Given the description of an element on the screen output the (x, y) to click on. 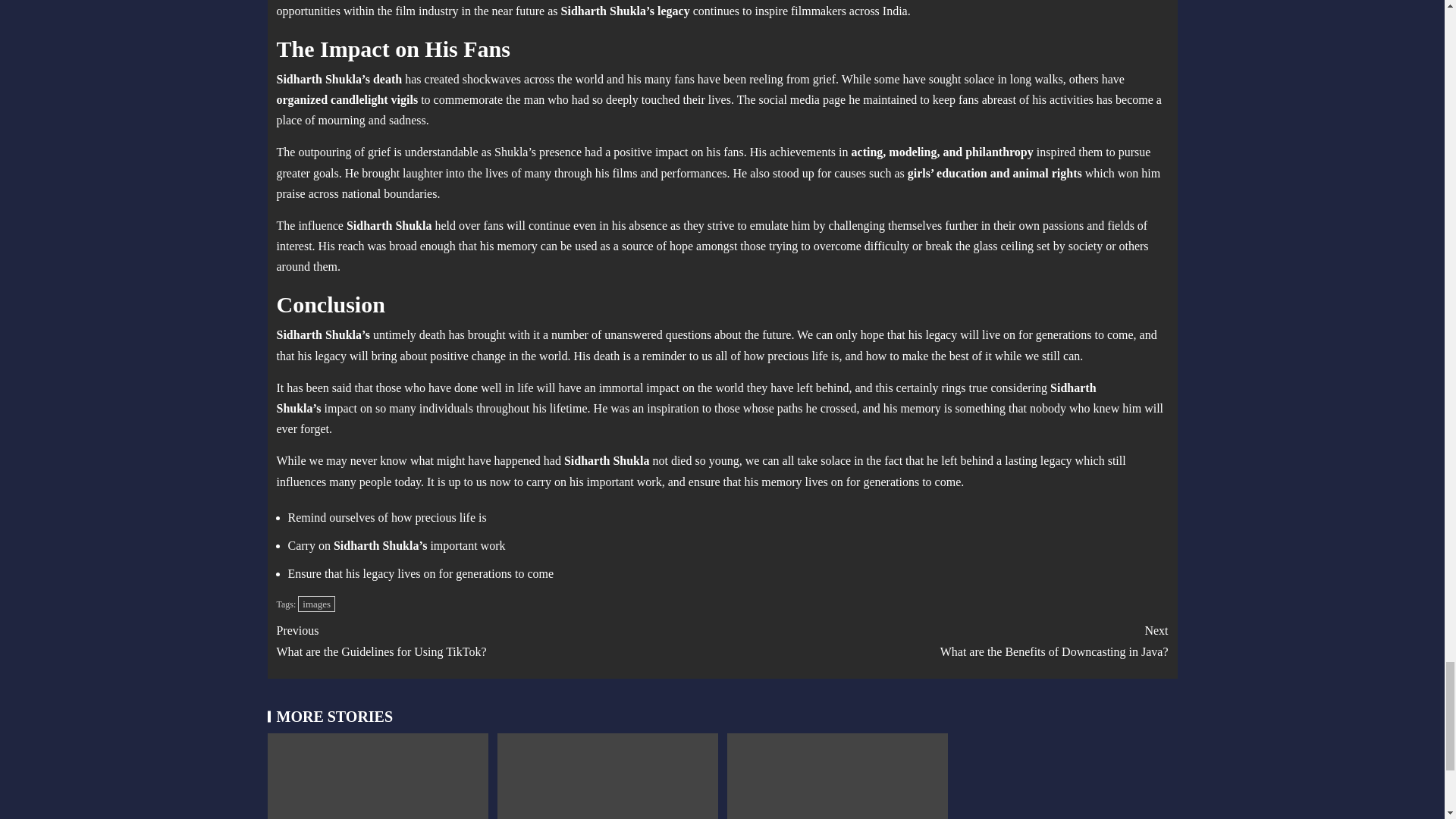
images (316, 603)
